Given the description of an element on the screen output the (x, y) to click on. 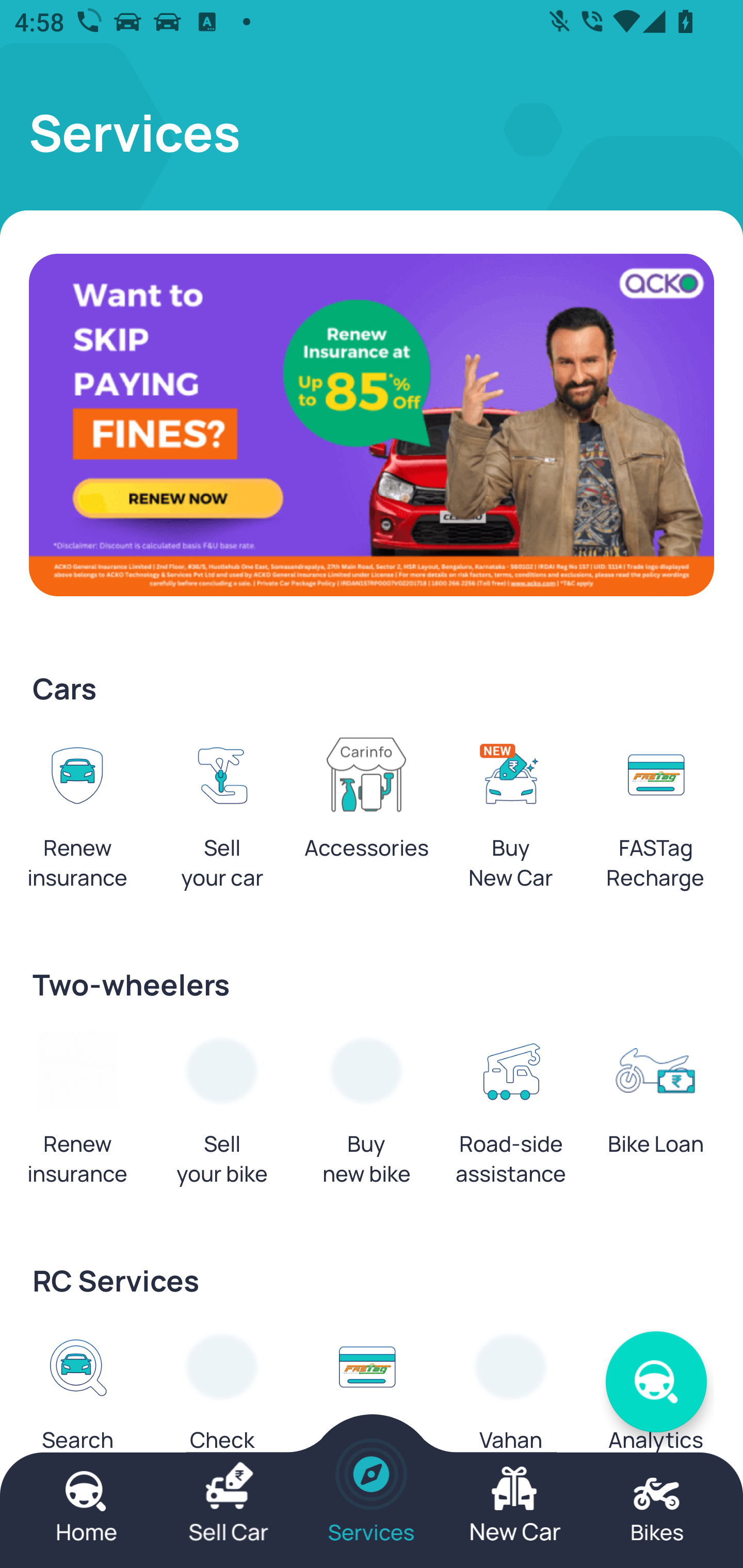
Renew
insurance (77, 818)
Sell
your car (221, 818)
Accessories (366, 803)
Buy
New Car (510, 818)
FASTag Recharge (655, 818)
Renew
insurance (77, 1114)
Sell
your bike (221, 1114)
Buy
new bike (366, 1114)
Road-side
assistance (510, 1114)
Bike Loan (655, 1099)
Search vehicle (77, 1410)
Check insurance (221, 1410)
Check FASTag (366, 1410)
Vahan services (510, 1410)
